Given the description of an element on the screen output the (x, y) to click on. 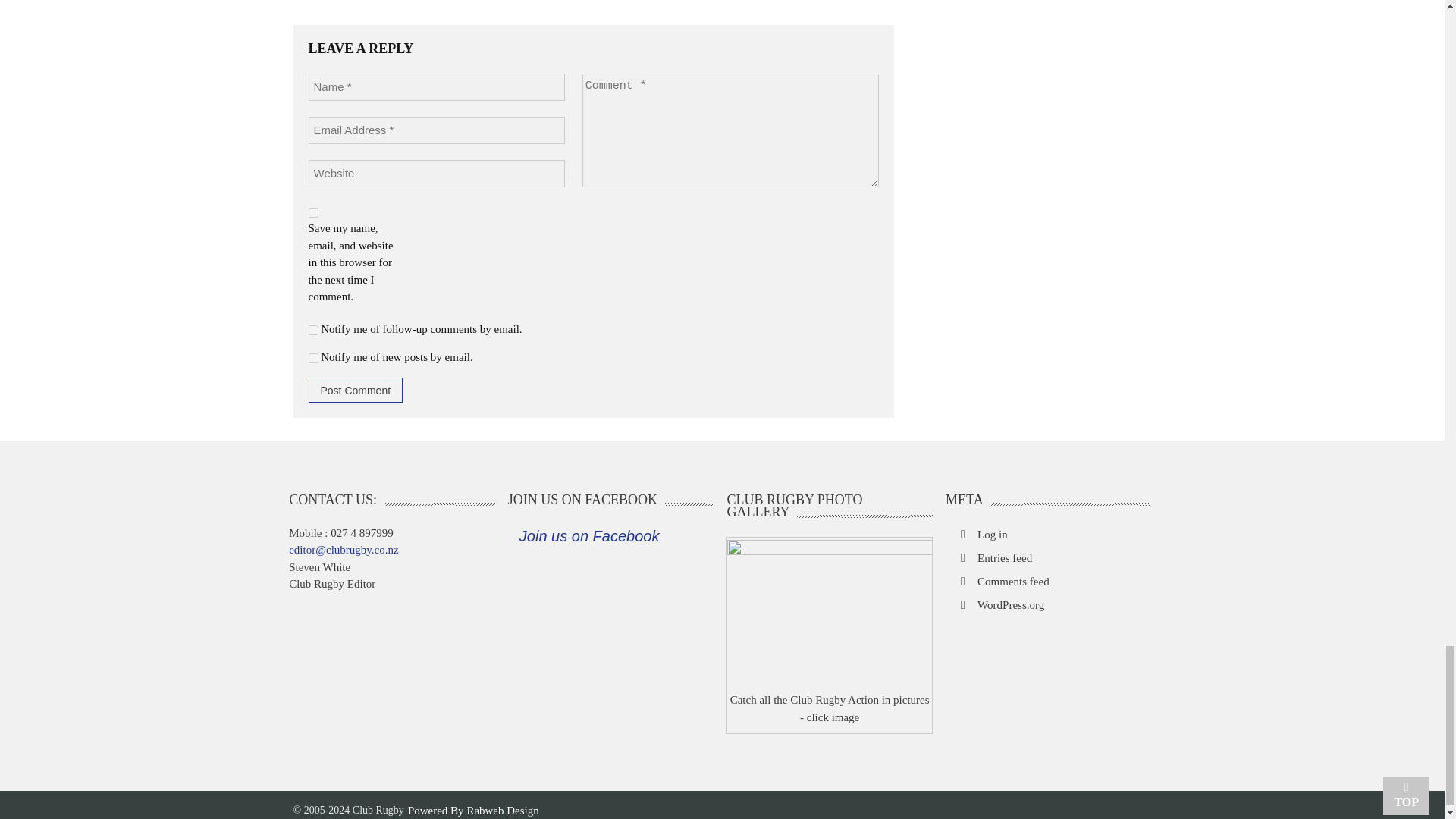
subscribe (312, 329)
Post Comment (355, 389)
yes (312, 212)
subscribe (312, 357)
